Given the description of an element on the screen output the (x, y) to click on. 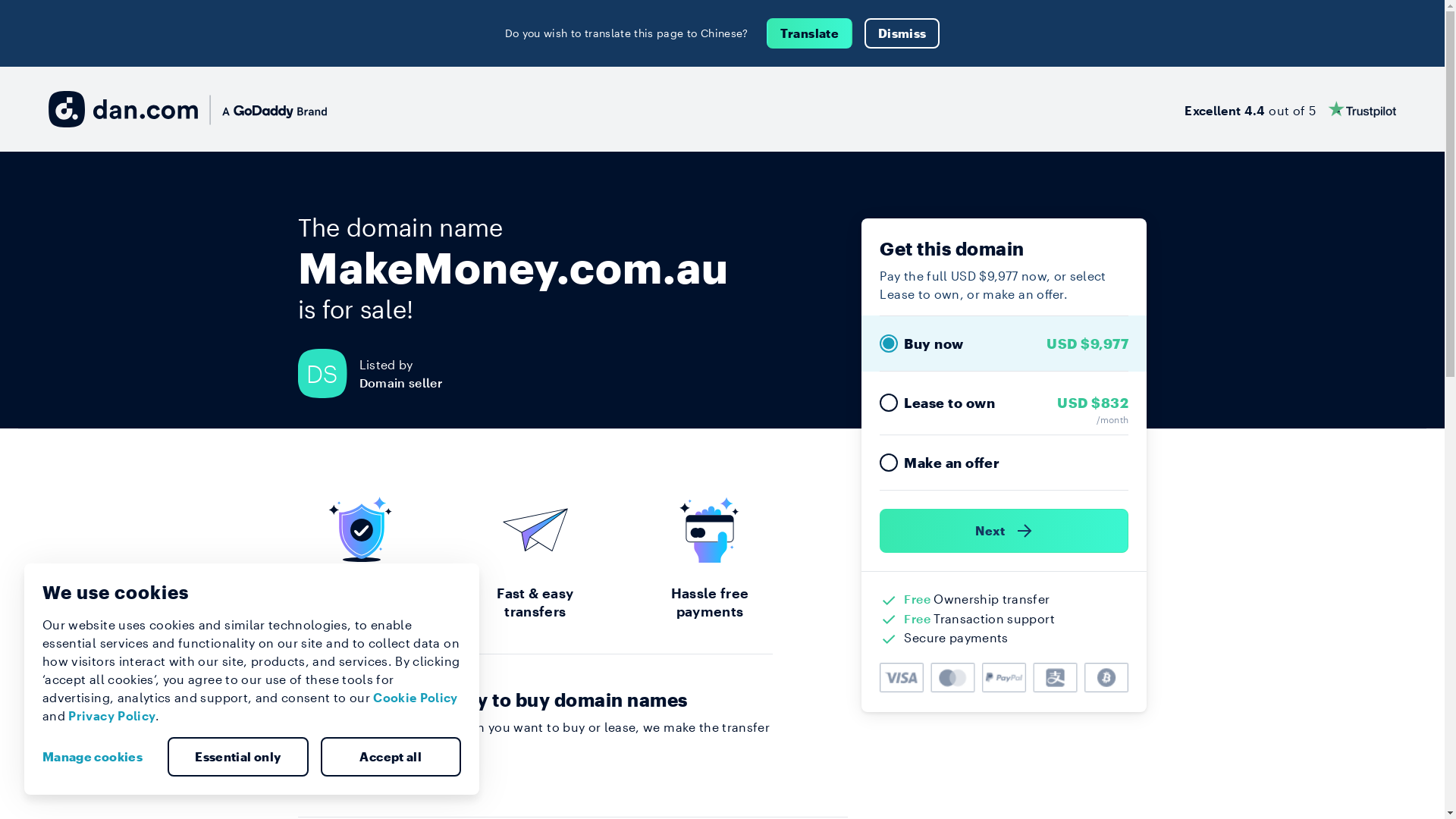
Essential only Element type: text (237, 756)
Accept all Element type: text (390, 756)
Privacy Policy Element type: text (111, 715)
Cookie Policy Element type: text (415, 697)
Manage cookies Element type: text (98, 756)
Dismiss Element type: text (901, 33)
Excellent 4.4 out of 5 Element type: text (1290, 109)
Next
) Element type: text (1003, 530)
Translate Element type: text (809, 33)
DS Element type: text (327, 373)
